Given the description of an element on the screen output the (x, y) to click on. 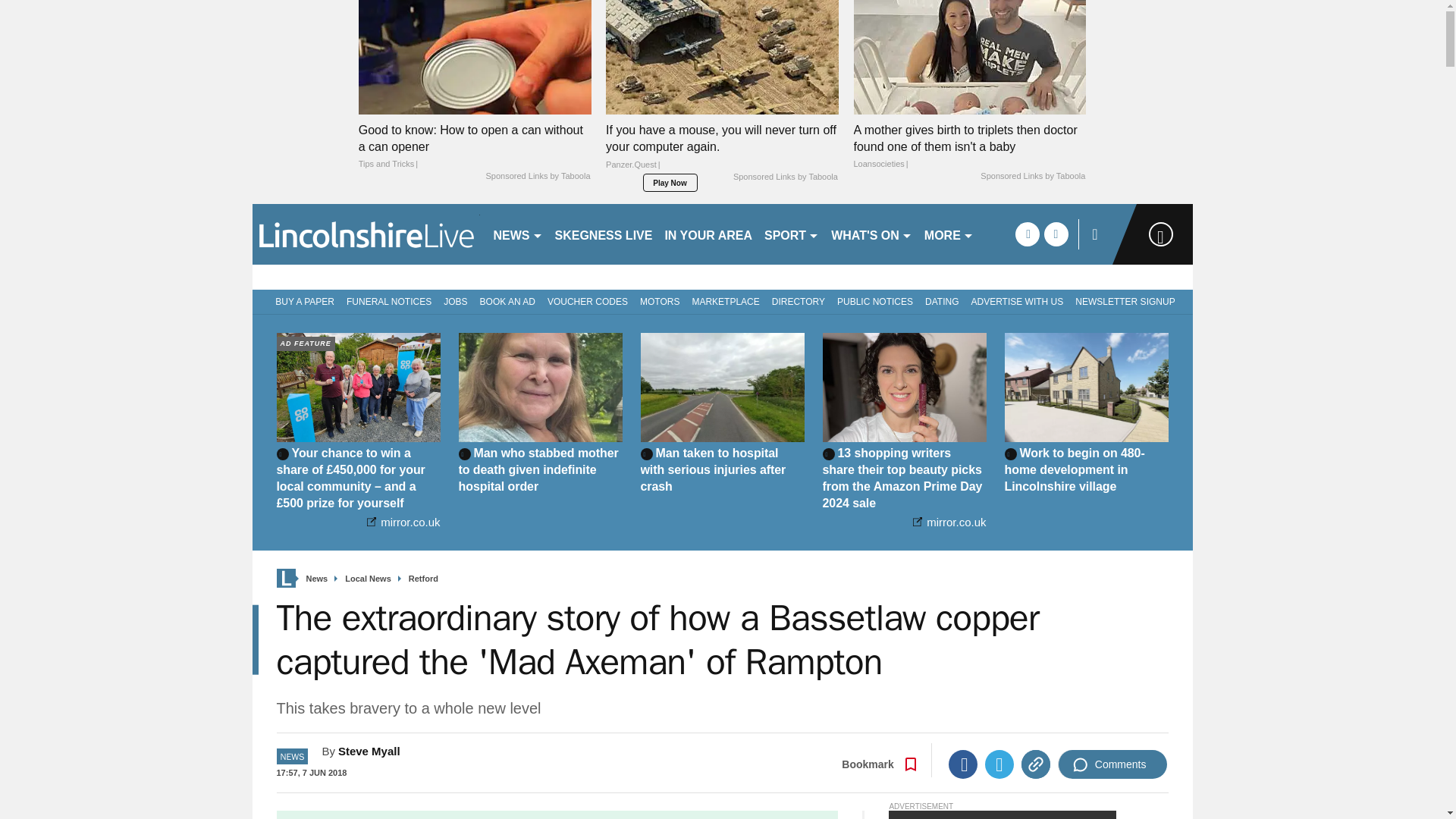
Comments (1112, 764)
twitter (1055, 233)
NEWS (517, 233)
lincolnshirelive (365, 233)
Sponsored Links by Taboola (1031, 176)
Facebook (962, 764)
Good to know: How to open a can without a can opener (474, 57)
SPORT (791, 233)
Twitter (999, 764)
Play Now (670, 182)
Good to know: How to open a can without a can opener (474, 146)
Sponsored Links by Taboola (785, 176)
